Given the description of an element on the screen output the (x, y) to click on. 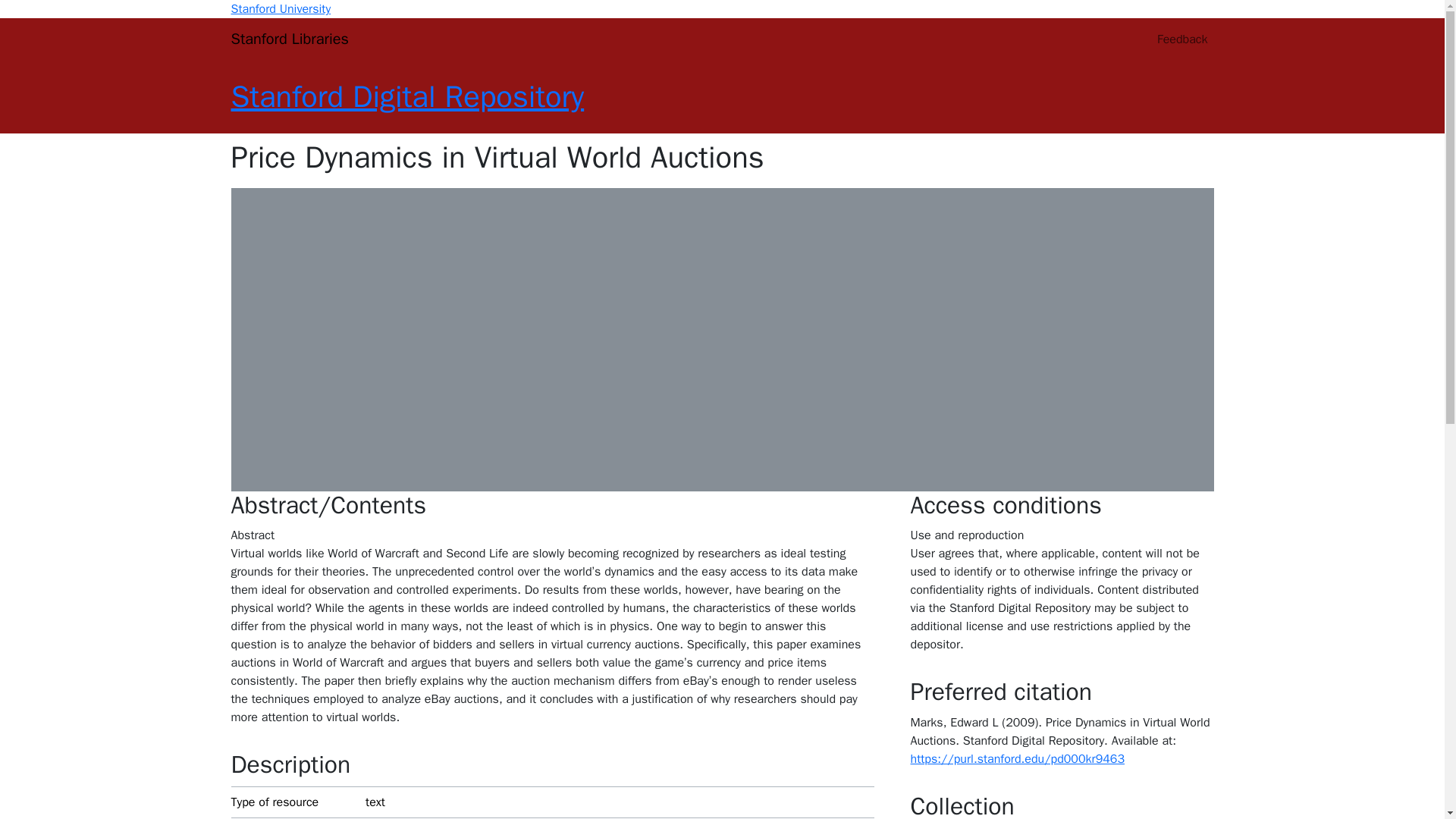
Feedback (1181, 39)
Stanford Digital Repository (406, 96)
Stanford Libraries (288, 39)
Stanford University (280, 8)
